Given the description of an element on the screen output the (x, y) to click on. 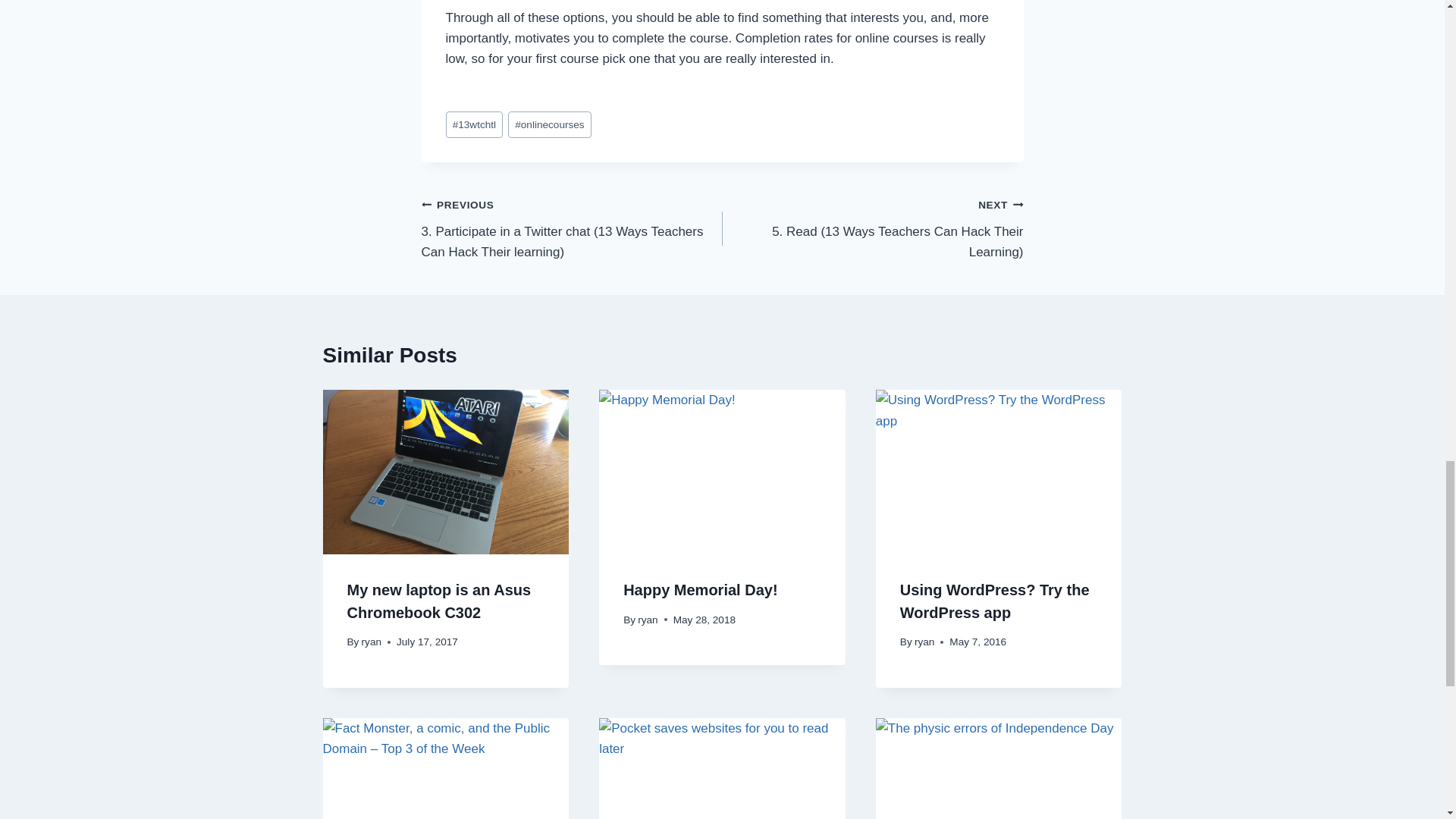
ryan (371, 641)
My new laptop is an Asus Chromebook C302 (439, 600)
Happy Memorial Day! (700, 589)
13wtchtl (474, 124)
onlinecourses (549, 124)
ryan (647, 619)
